Given the description of an element on the screen output the (x, y) to click on. 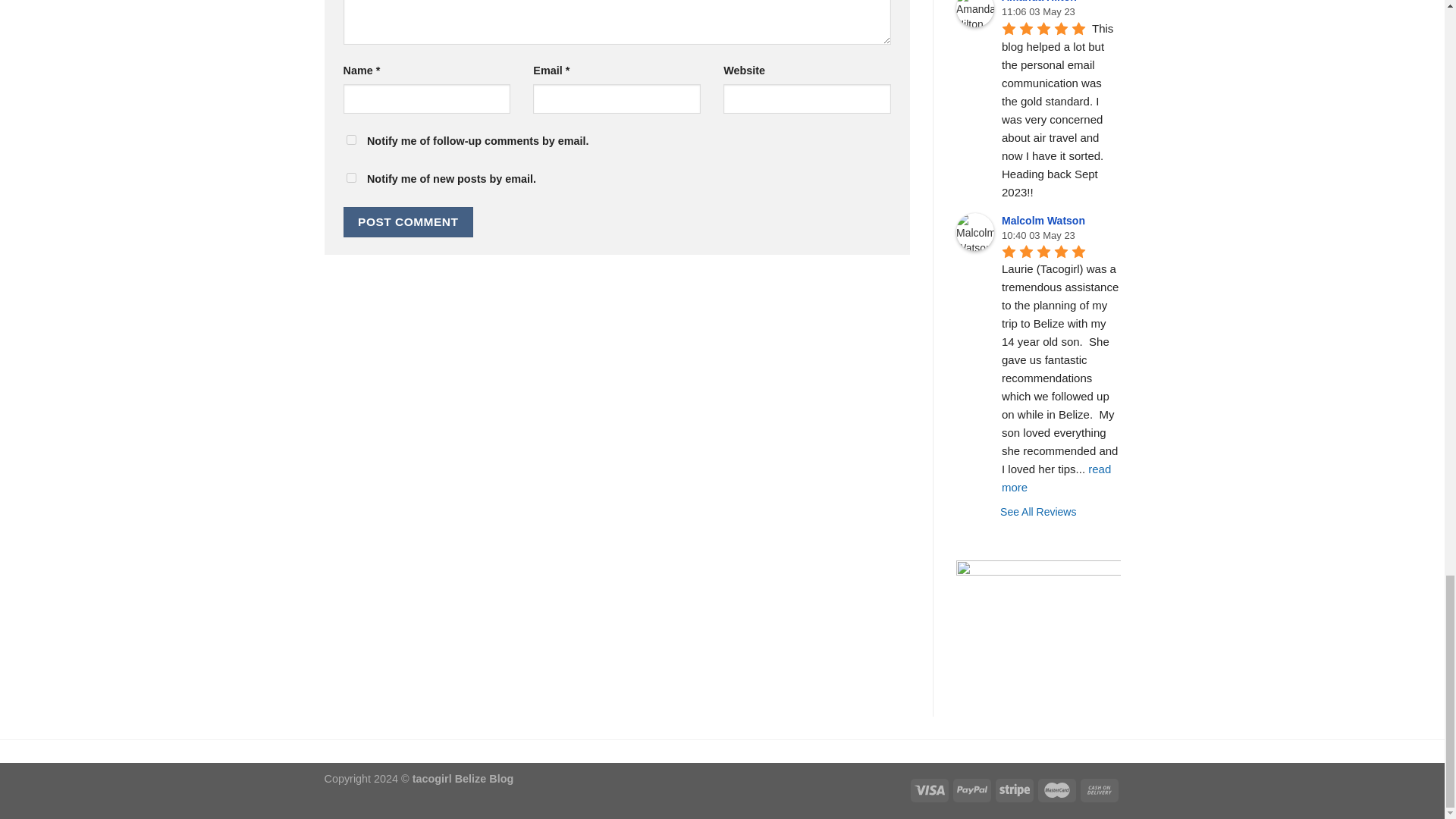
Amanda Hilton (975, 13)
Post Comment (407, 221)
subscribe (350, 177)
Malcolm Watson (975, 231)
subscribe (350, 139)
